Given the description of an element on the screen output the (x, y) to click on. 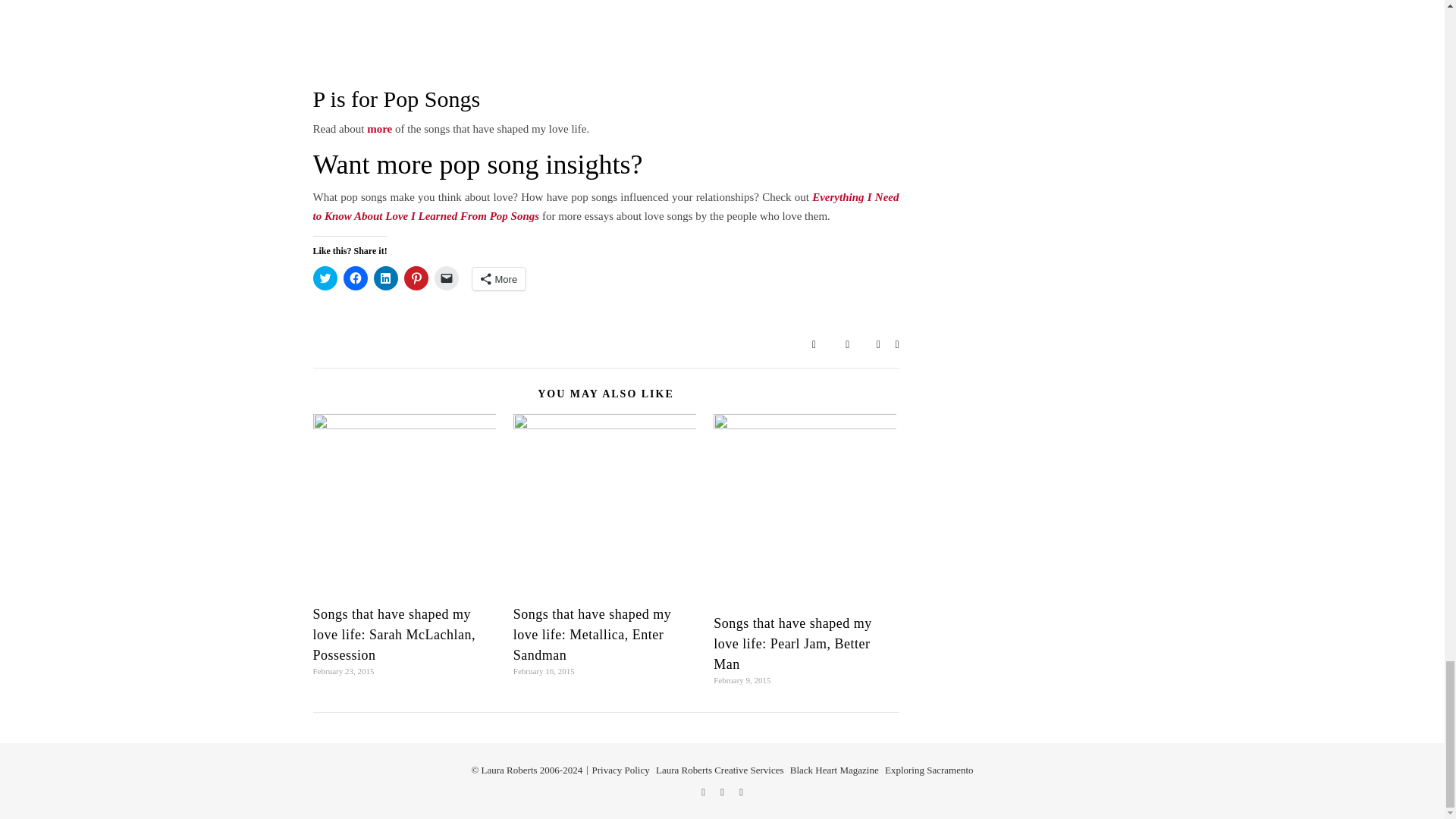
Click to share on Facebook (354, 278)
Click to email a link to a friend (445, 278)
Click to share on Twitter (324, 278)
Click to share on LinkedIn (384, 278)
Click to share on Pinterest (415, 278)
